Given the description of an element on the screen output the (x, y) to click on. 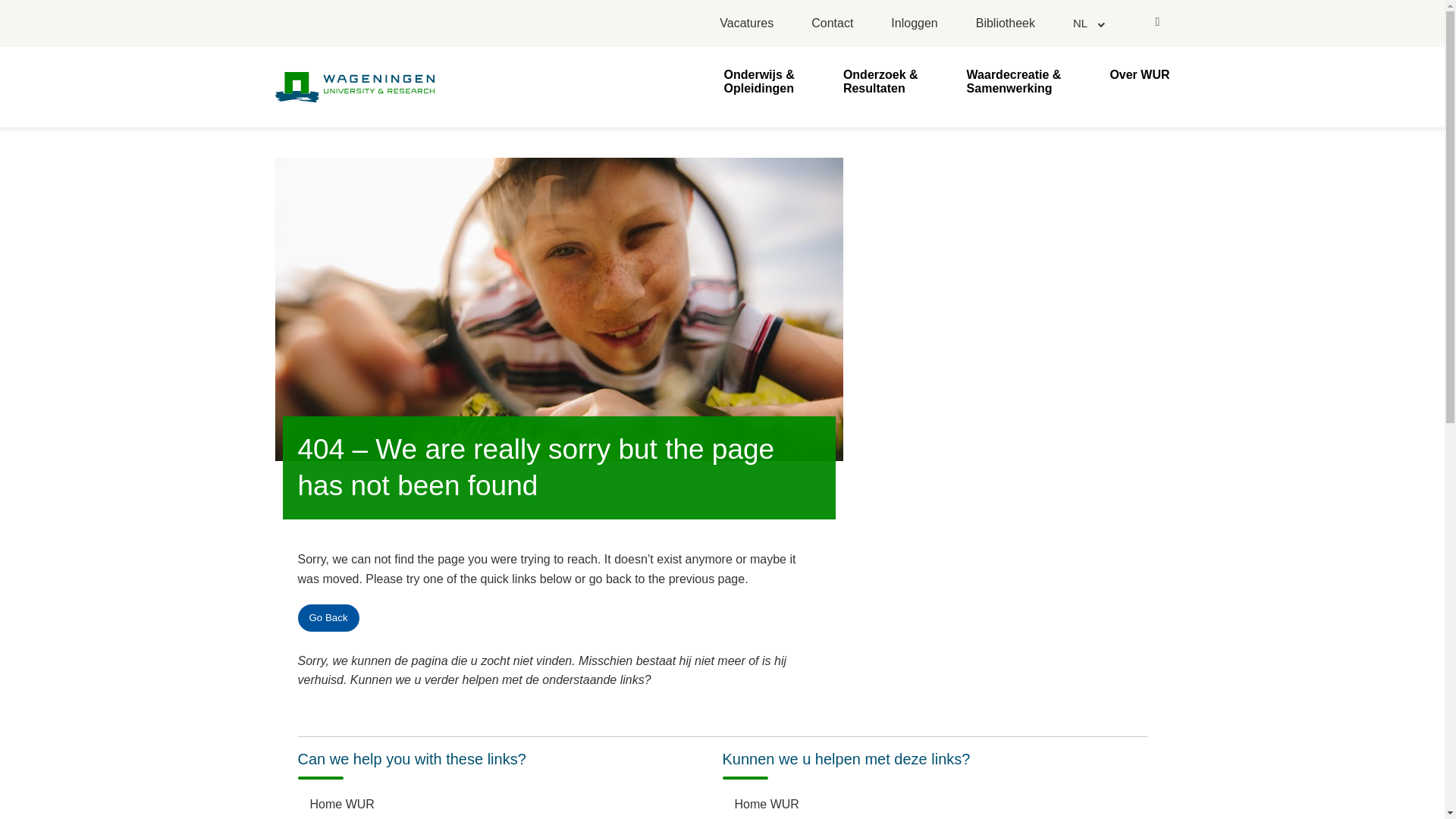
NL (1086, 23)
Inloggen (914, 23)
Contact (831, 23)
Contact (831, 23)
Inloggen (914, 23)
Bibliotheek (1004, 23)
Vacatures (746, 23)
Vacatures (746, 23)
